Given the description of an element on the screen output the (x, y) to click on. 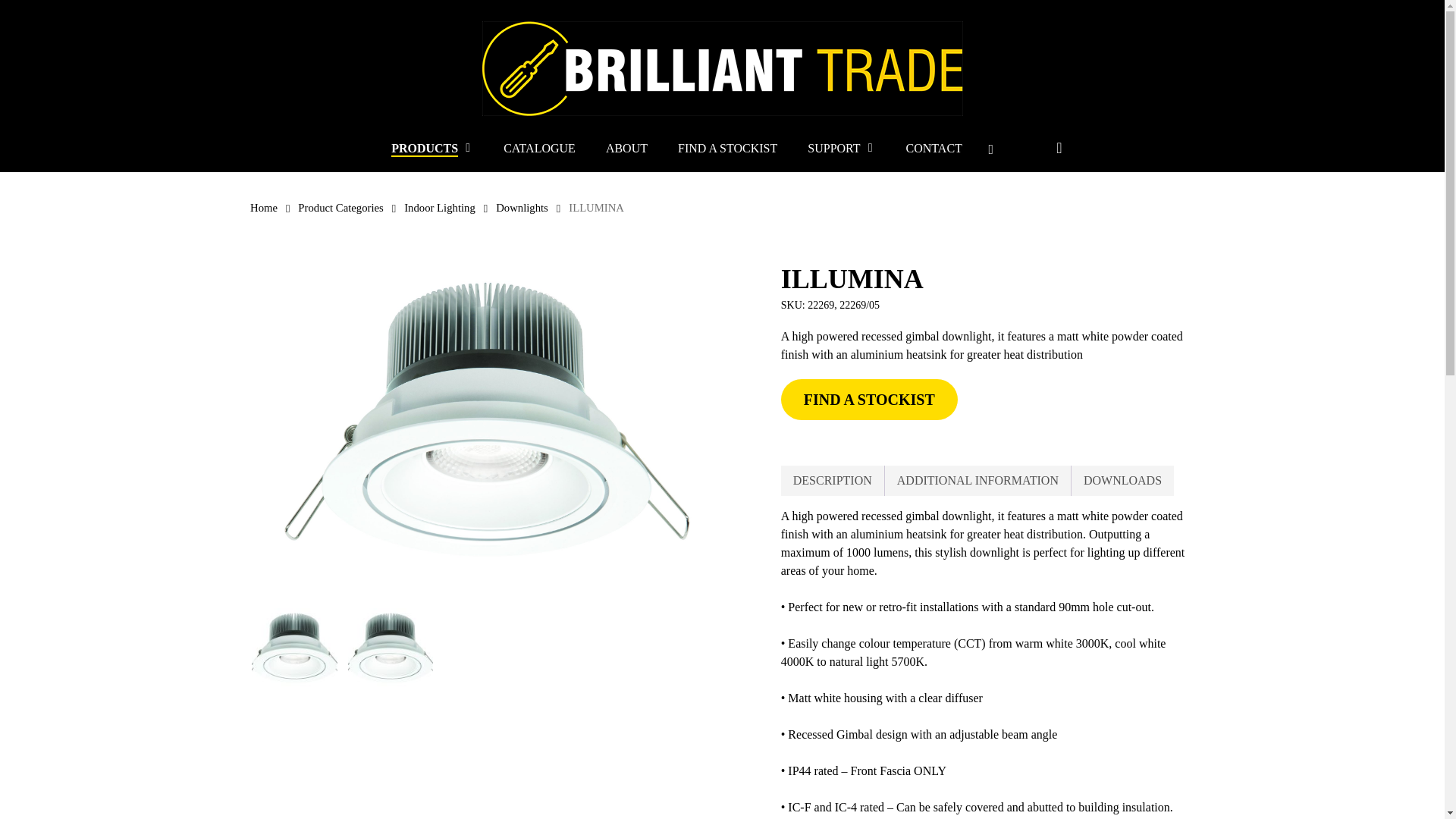
PRODUCTS (432, 147)
Page 1 (986, 708)
Page 1 (986, 662)
